Given the description of an element on the screen output the (x, y) to click on. 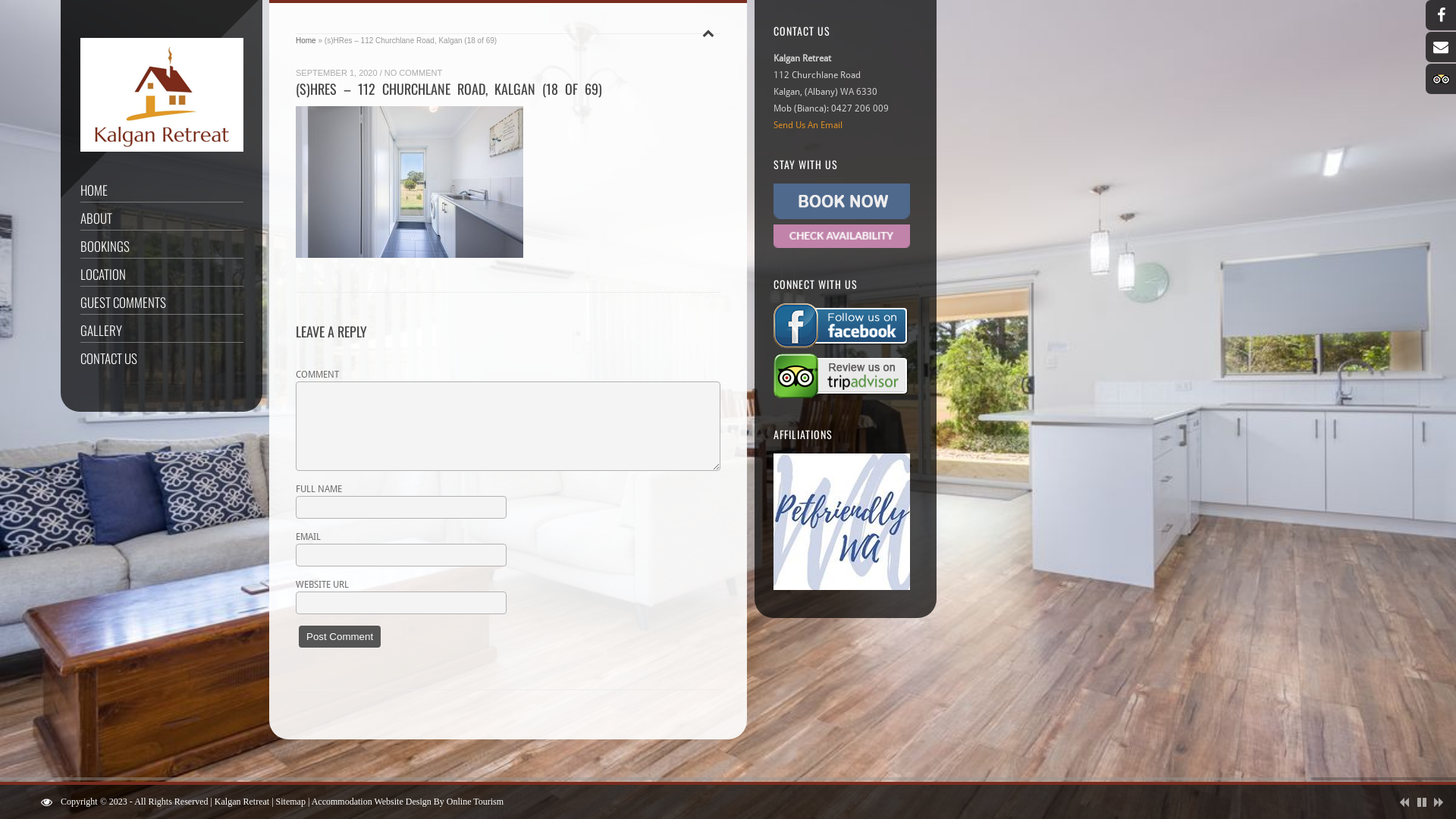
ABOUT Element type: text (161, 217)
Send Us An Email Element type: text (807, 124)
Accommodation Website Design Element type: text (371, 801)
HOME Element type: text (161, 189)
Kalgan Retreat Element type: text (241, 801)
BOOKINGS Element type: text (161, 245)
Online Tourism Element type: text (474, 801)
Post Comment Element type: text (339, 636)
GALLERY Element type: text (161, 329)
NO COMMENT Element type: text (413, 70)
LOCATION Element type: text (161, 273)
Sitemap Element type: text (290, 801)
Home Element type: text (305, 40)
GUEST COMMENTS Element type: text (161, 301)
CONTACT US Element type: text (161, 357)
